Given the description of an element on the screen output the (x, y) to click on. 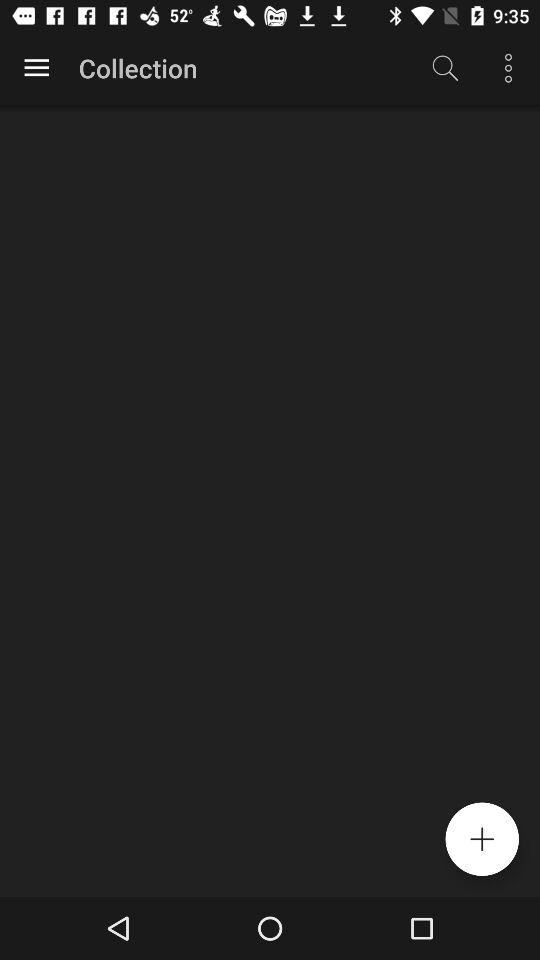
launch the item to the left of collection icon (36, 68)
